Given the description of an element on the screen output the (x, y) to click on. 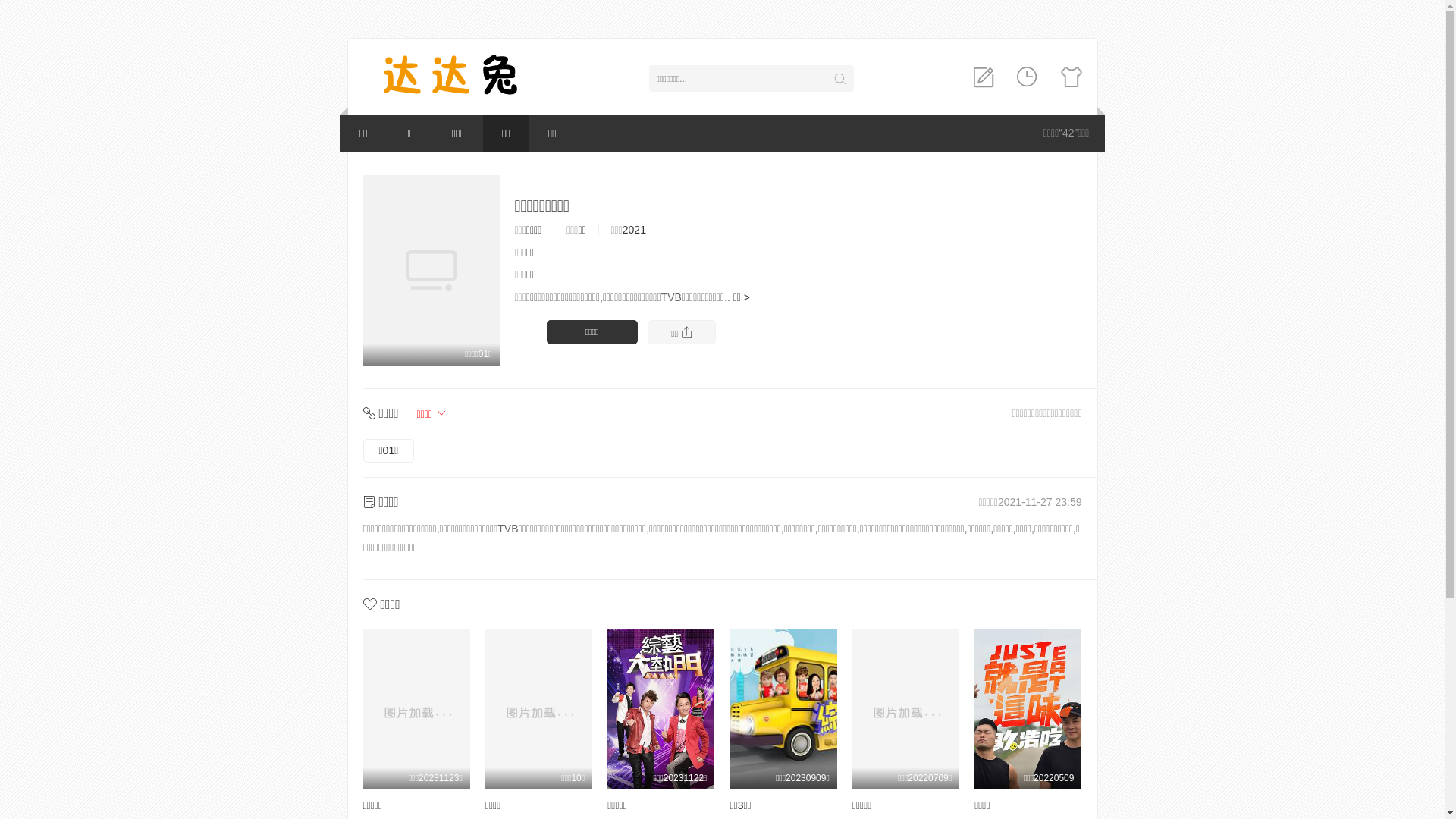
2021 Element type: text (634, 229)
